Given the description of an element on the screen output the (x, y) to click on. 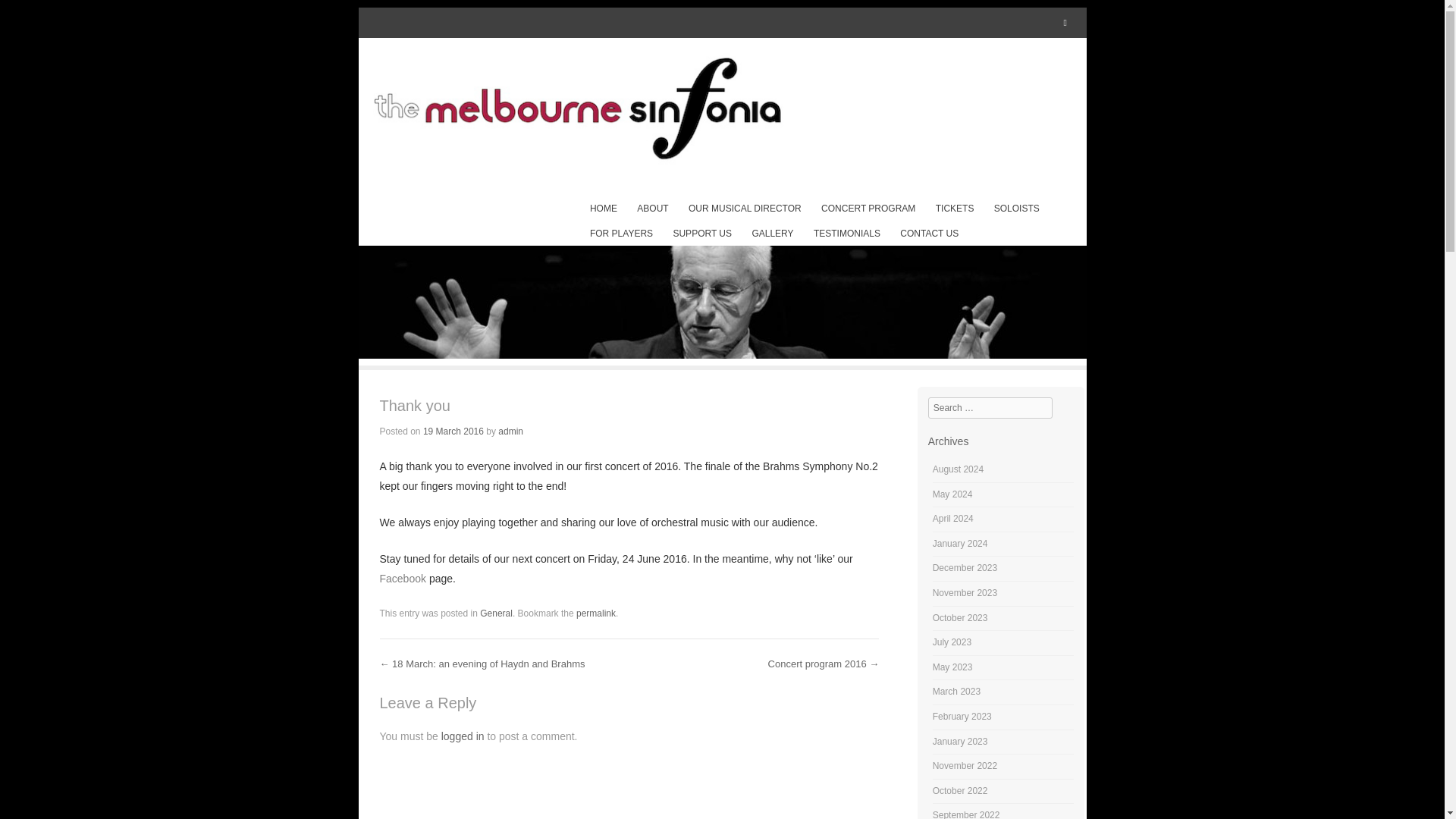
OUR MUSICAL DIRECTOR (744, 209)
permalink (595, 613)
March 2023 (956, 691)
CONCERT PROGRAM (868, 209)
View all posts by admin (509, 430)
TICKETS (954, 209)
logged in (462, 736)
February 2023 (962, 716)
January 2023 (960, 741)
January 2024 (960, 543)
